Given the description of an element on the screen output the (x, y) to click on. 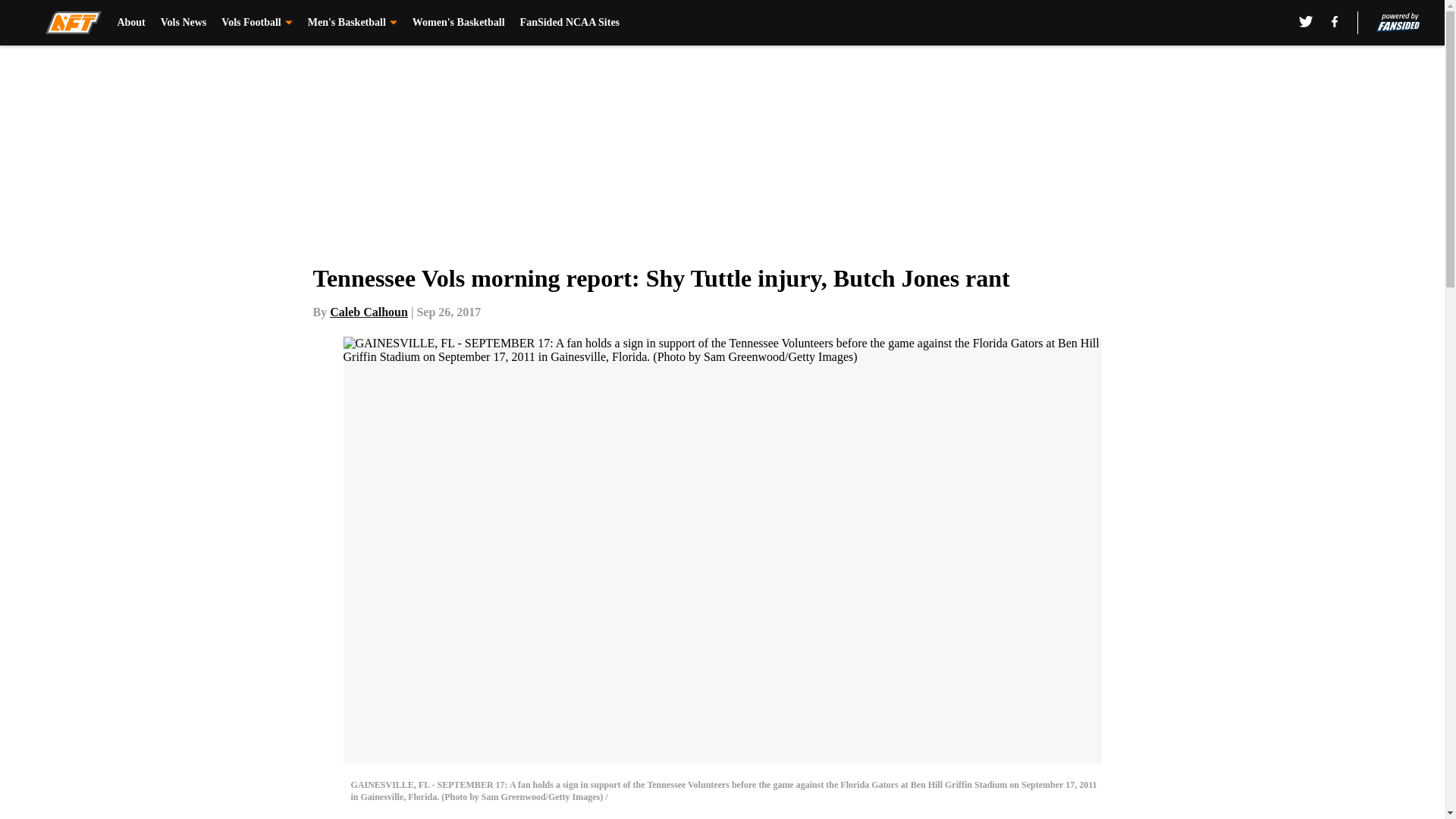
Women's Basketball (458, 22)
Vols News (183, 22)
Caleb Calhoun (368, 311)
FanSided NCAA Sites (569, 22)
About (130, 22)
